Given the description of an element on the screen output the (x, y) to click on. 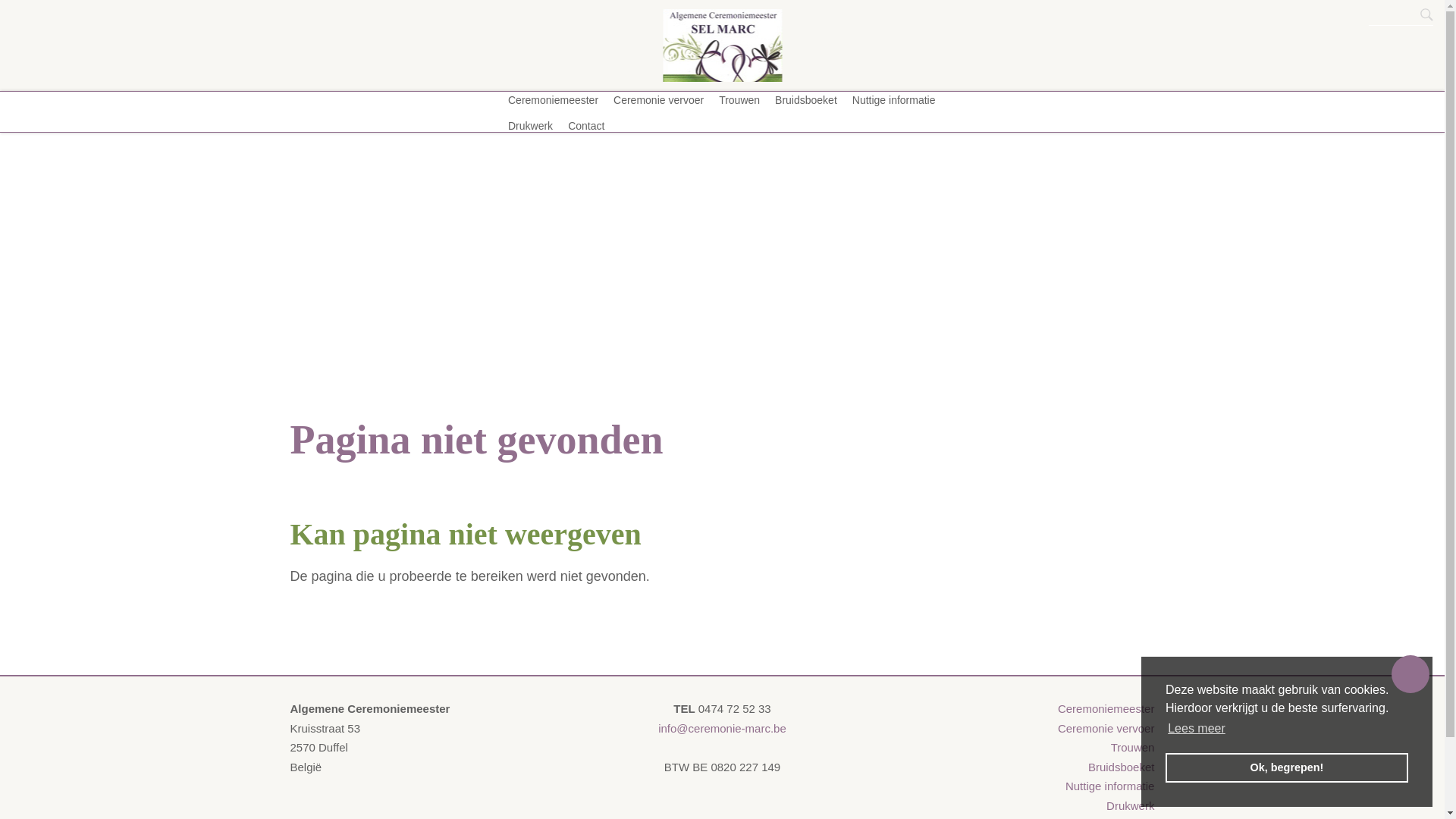
Ceremoniemeester Element type: text (552, 99)
Verzenden Element type: text (11, 11)
Bruidsboeket Element type: text (805, 99)
Drukwerk Element type: text (1130, 805)
Lees meer Element type: text (1196, 728)
Trouwen Element type: text (1132, 746)
Drukwerk Element type: text (530, 125)
info@ceremonie-marc.be Element type: text (722, 727)
Nuttige informatie Element type: text (1109, 785)
Ceremonie vervoer Element type: text (1105, 727)
Contact Element type: text (585, 125)
Ok, begrepen! Element type: text (1286, 767)
Nuttige informatie Element type: text (893, 99)
Ceremoniemeester Element type: text (1105, 708)
Ceremonie vervoer Element type: text (658, 99)
Bruidsboeket Element type: text (1121, 766)
Trouwen Element type: text (739, 99)
